Given the description of an element on the screen output the (x, y) to click on. 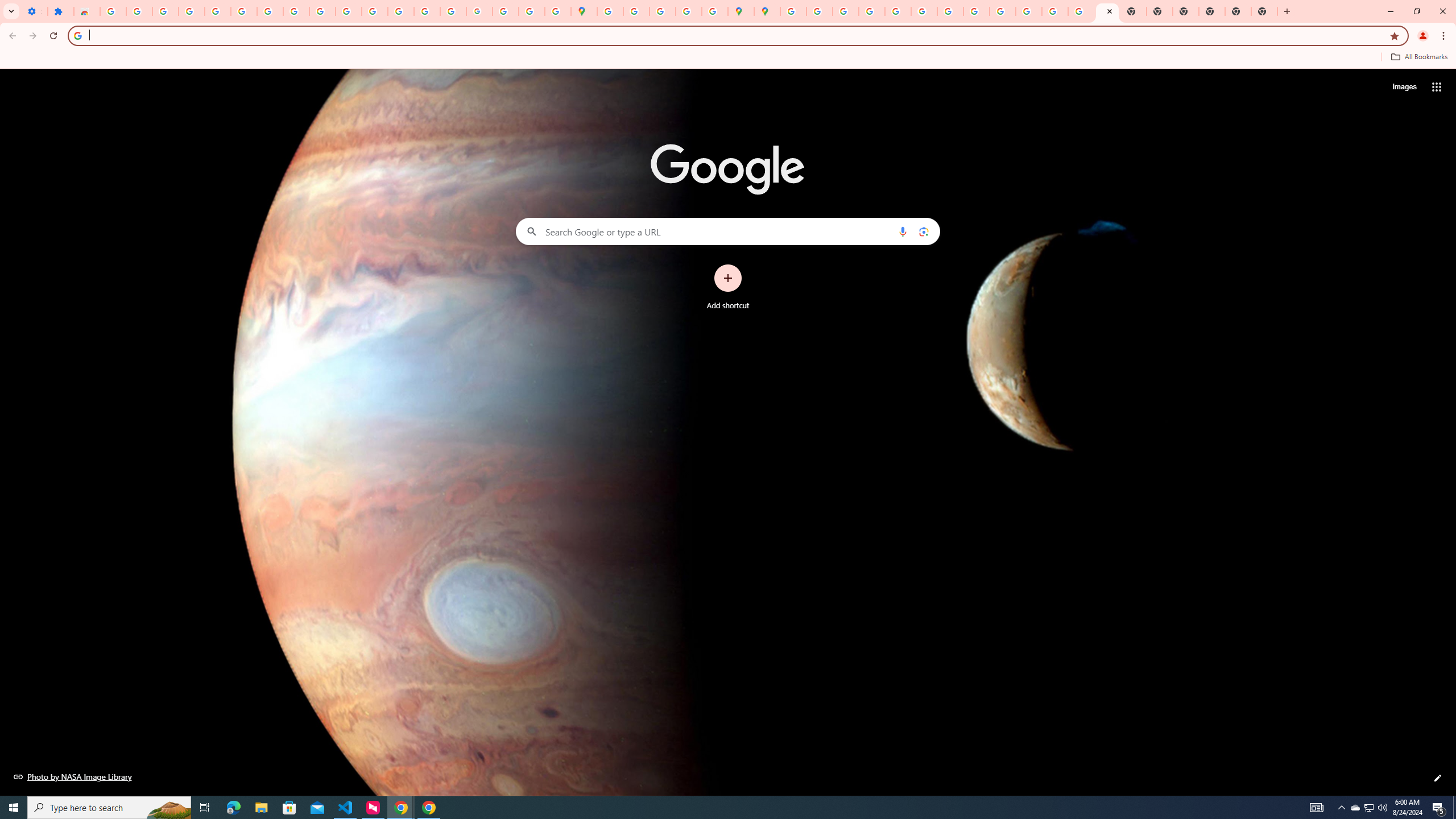
https://scholar.google.com/ (374, 11)
Create your Google Account (663, 11)
YouTube (322, 11)
New Tab (1264, 11)
Privacy Help Center - Policies Help (871, 11)
